Given the description of an element on the screen output the (x, y) to click on. 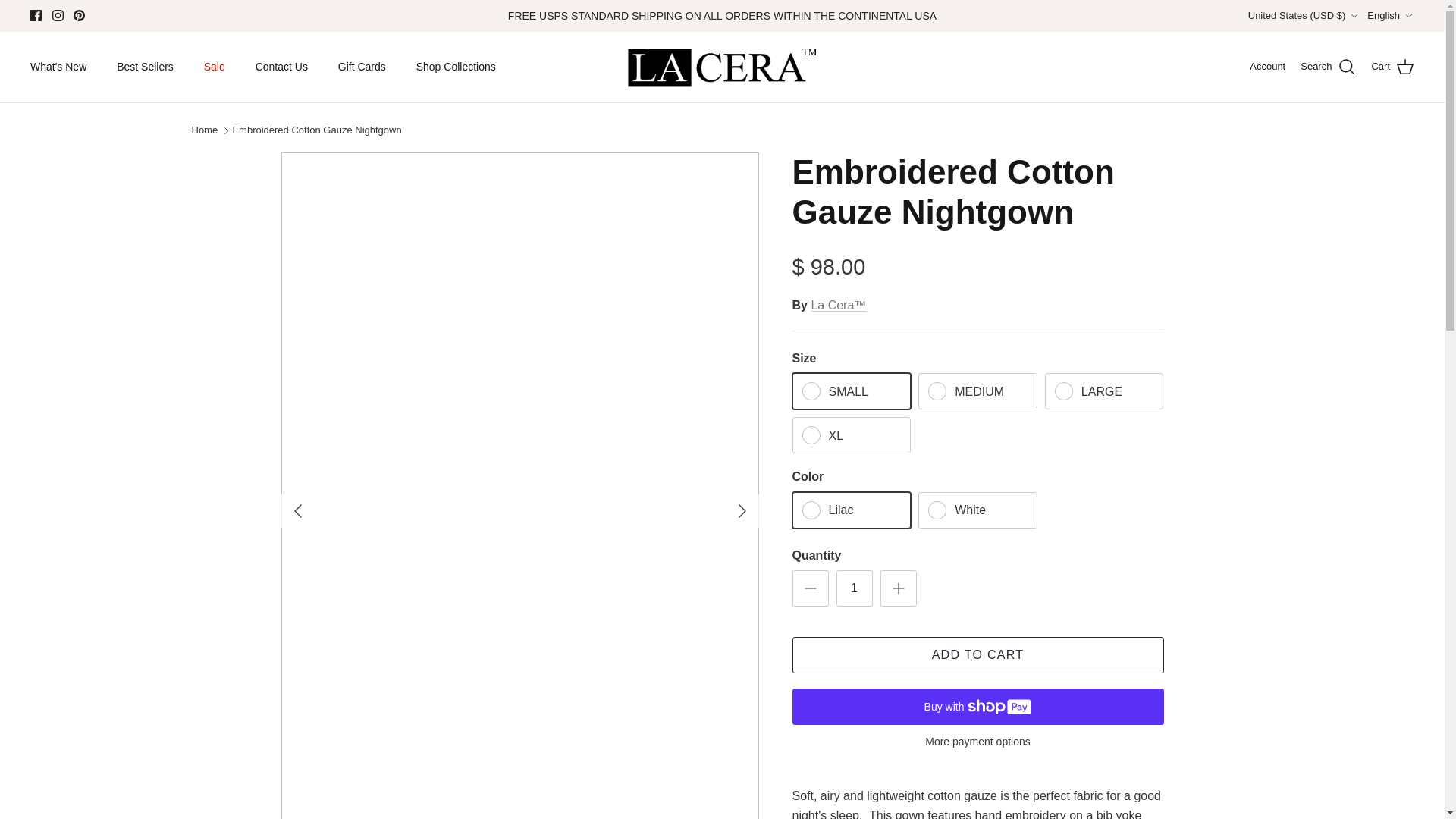
Down (1408, 15)
Instagram (58, 15)
Facebook (36, 15)
Instagram (58, 15)
LEFT (296, 510)
RIGHT (741, 510)
Facebook (36, 15)
1 (853, 588)
Minus (809, 588)
Plus (897, 588)
Pinterest (79, 15)
Down (1354, 15)
Pinterest (79, 15)
